Given the description of an element on the screen output the (x, y) to click on. 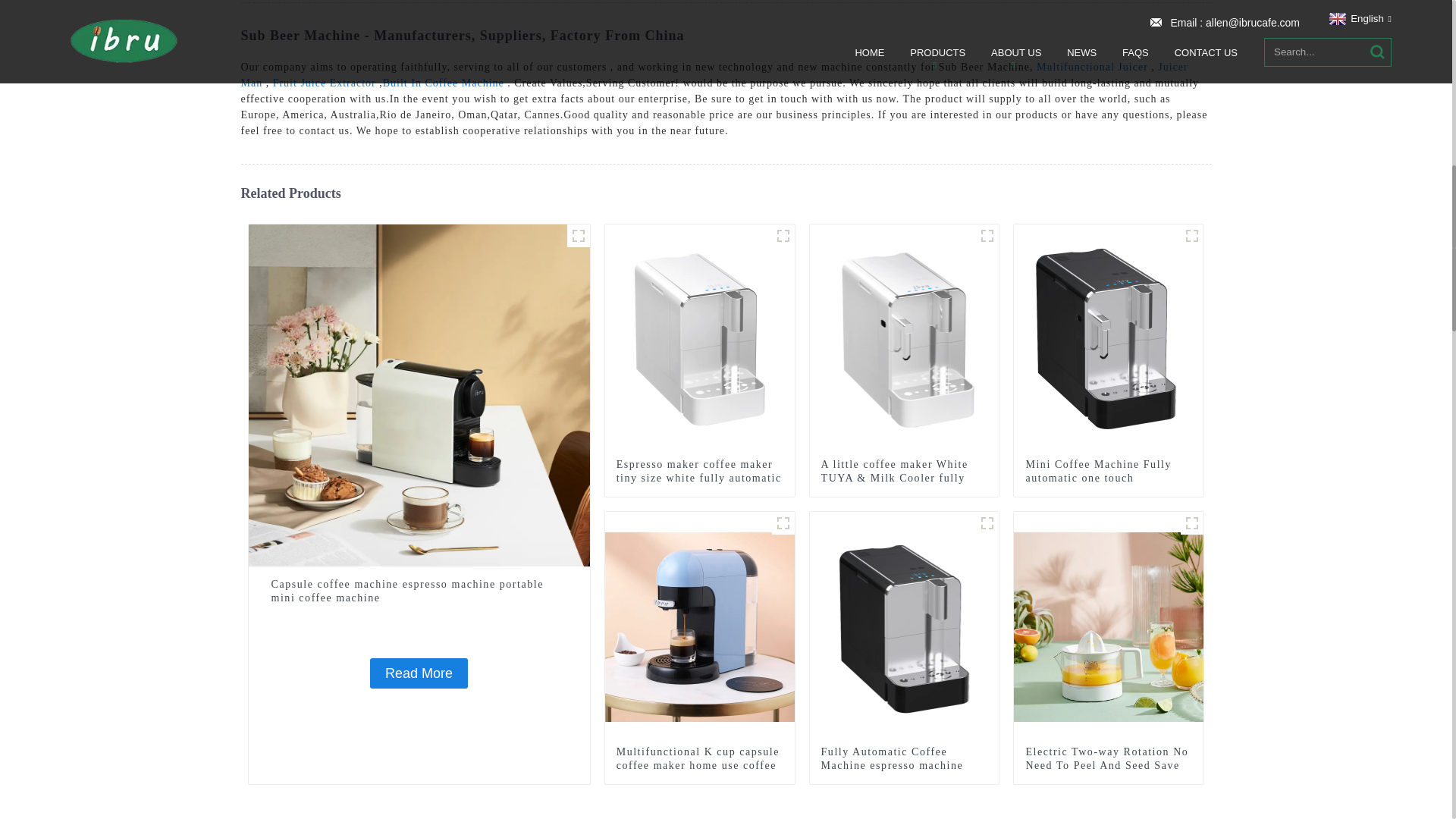
Fruit Juice Extractor (324, 82)
Fruit Juice Extractor (324, 82)
home use coffee machine-1 (782, 522)
Built In Coffee Machine (442, 82)
Built In Coffee Machine (442, 82)
Multifunctional Juicer (1092, 66)
Read More (418, 673)
